Given the description of an element on the screen output the (x, y) to click on. 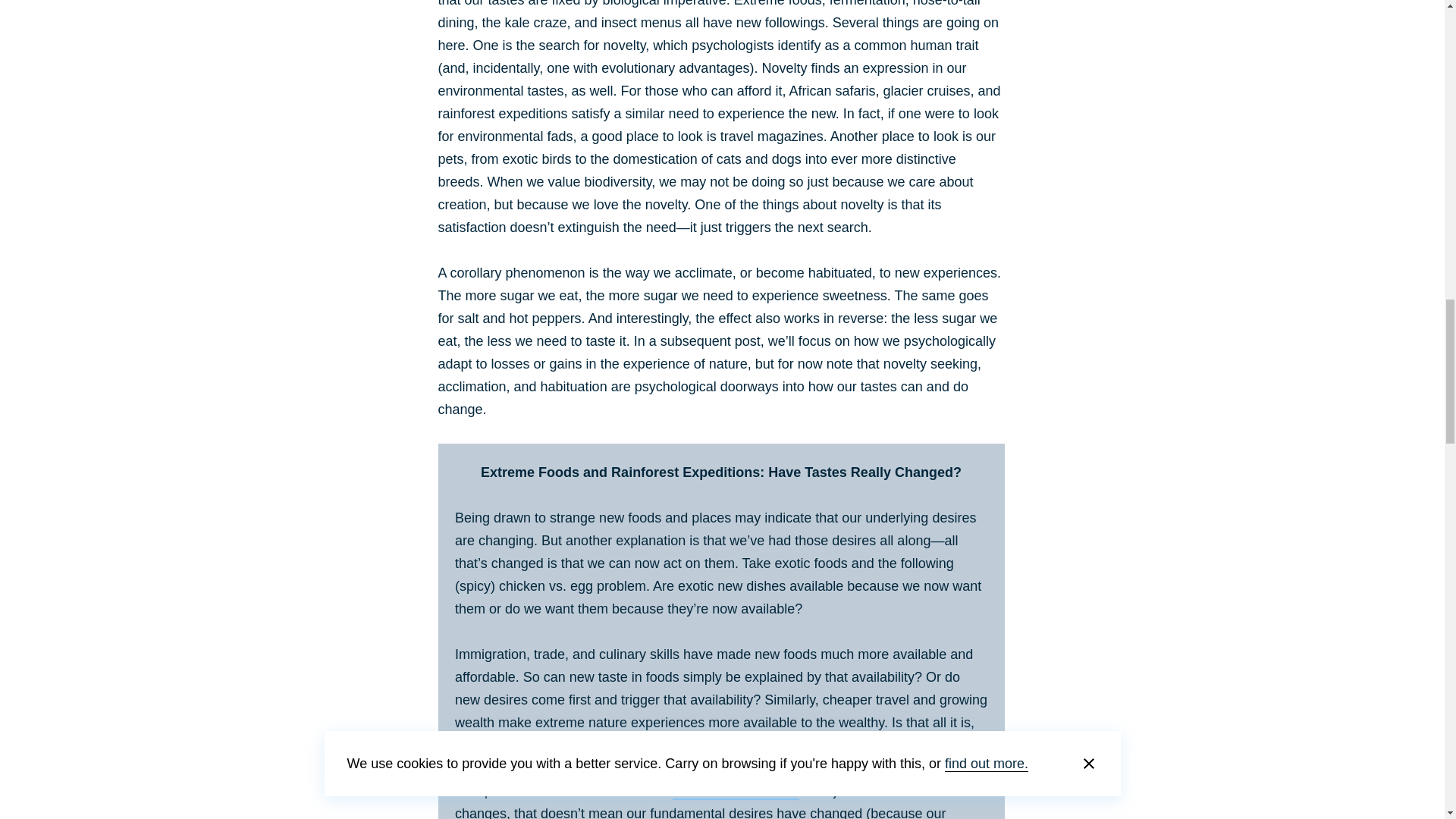
we introduced earlier (735, 790)
